Given the description of an element on the screen output the (x, y) to click on. 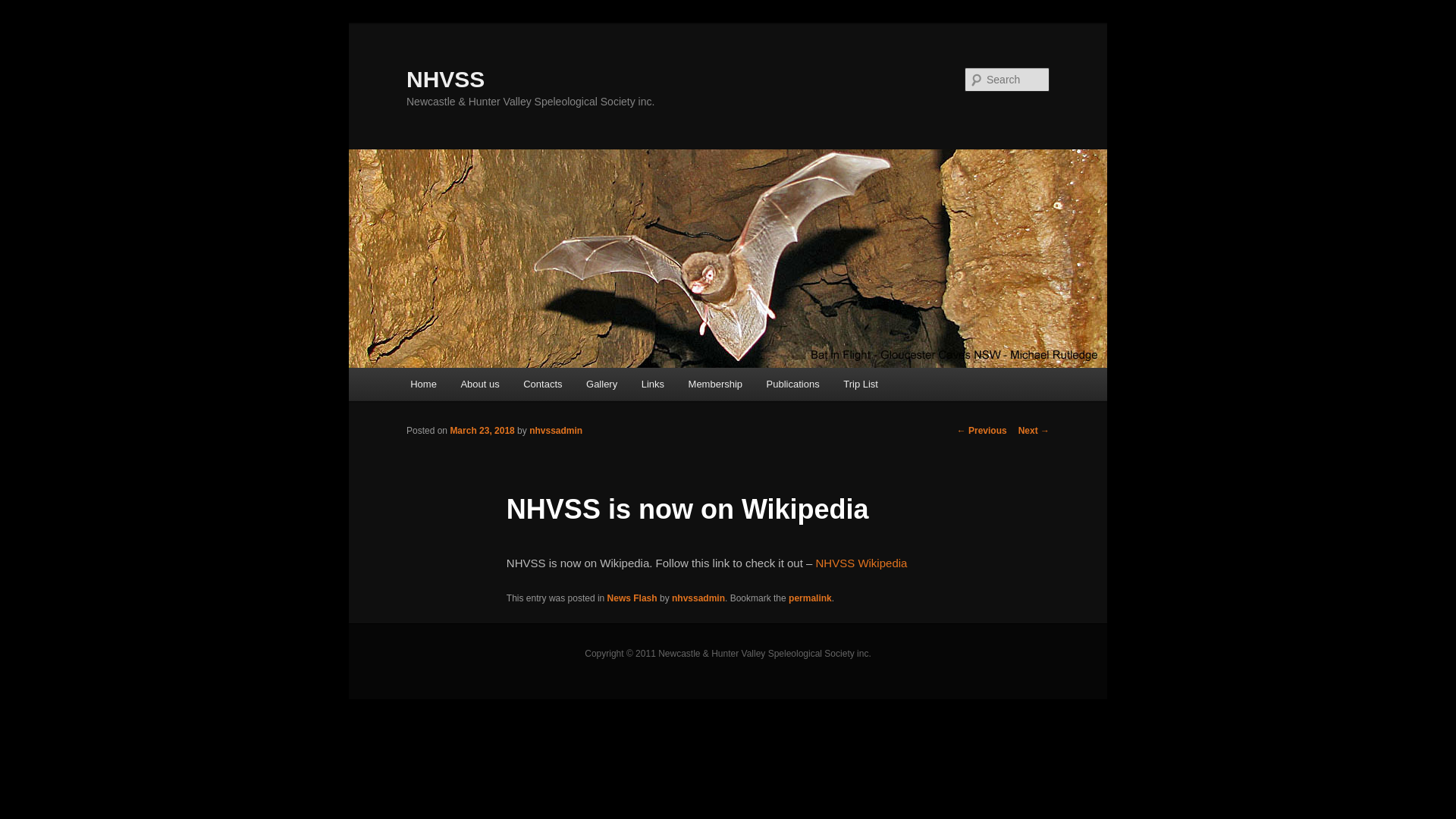
NHVSS Element type: text (445, 78)
permalink Element type: text (809, 598)
Links Element type: text (652, 383)
nhvssadmin Element type: text (555, 430)
NHVSS Wikipedia Element type: text (861, 562)
Search Element type: text (24, 8)
Home Element type: text (423, 383)
About us Element type: text (479, 383)
Skip to primary content Element type: text (22, 22)
March 23, 2018 Element type: text (481, 430)
Gallery Element type: text (601, 383)
Contacts Element type: text (542, 383)
News Flash Element type: text (632, 598)
Membership Element type: text (715, 383)
Publications Element type: text (792, 383)
Trip List Element type: text (860, 383)
nhvssadmin Element type: text (697, 598)
